Given the description of an element on the screen output the (x, y) to click on. 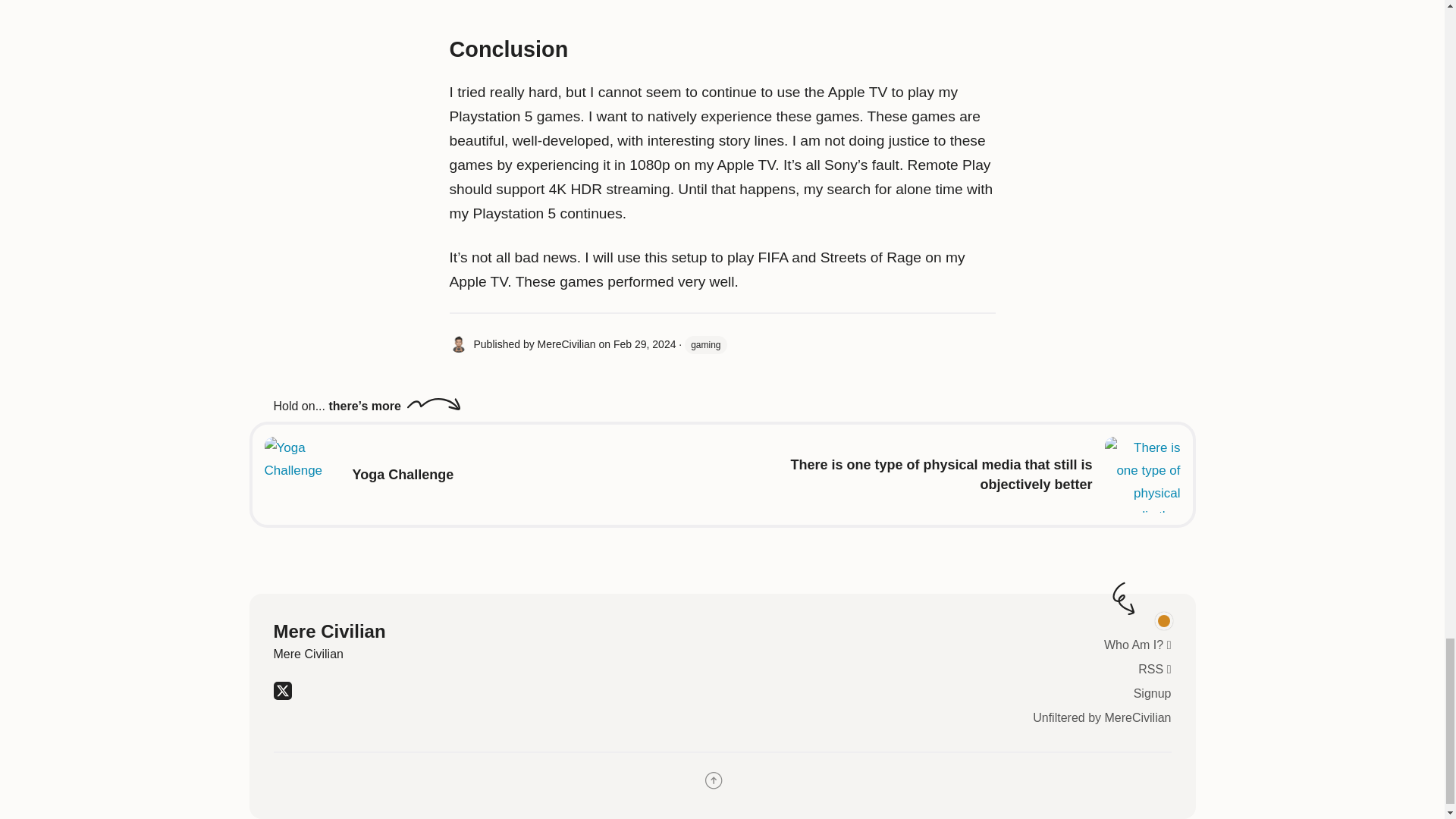
Unfiltered by MereCivilian (1101, 717)
Yoga Challenge (402, 474)
Signup (1153, 693)
gaming (705, 344)
gaming (705, 344)
MereCivilian (566, 344)
